Given the description of an element on the screen output the (x, y) to click on. 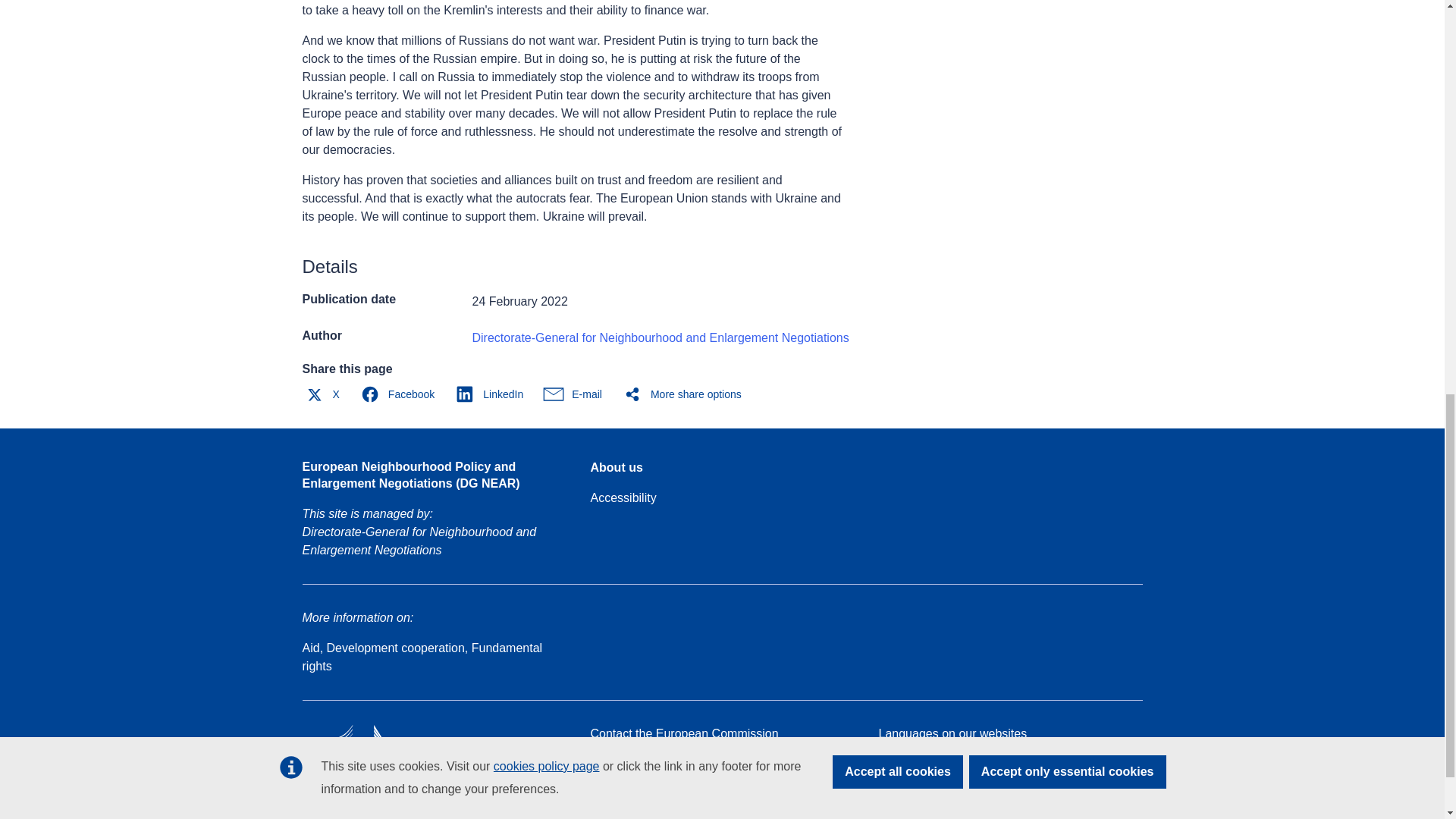
European Commission (411, 775)
